Given the description of an element on the screen output the (x, y) to click on. 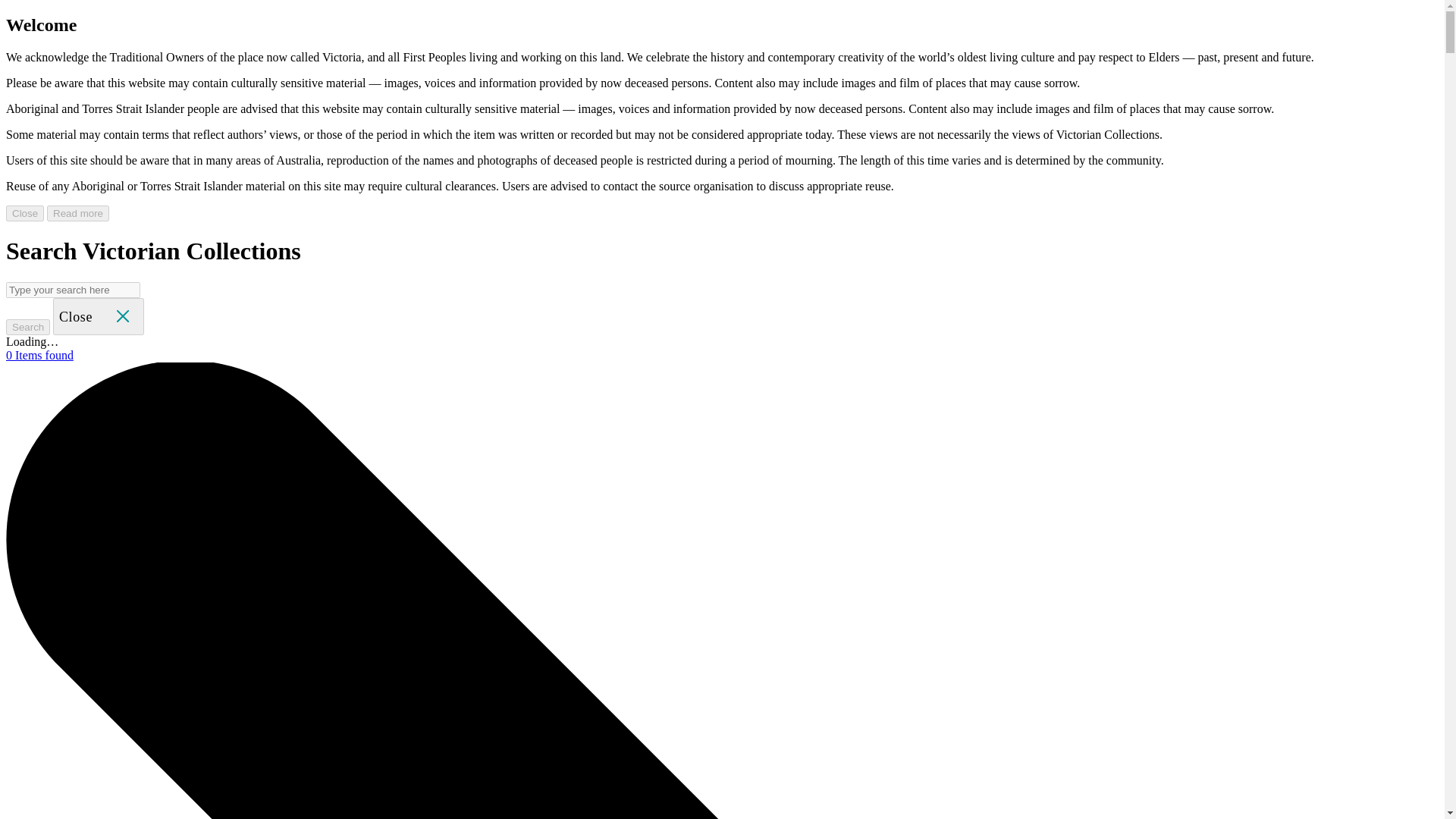
Search (27, 326)
Close (24, 213)
Close (98, 315)
Read more (77, 213)
Close (98, 316)
